Given the description of an element on the screen output the (x, y) to click on. 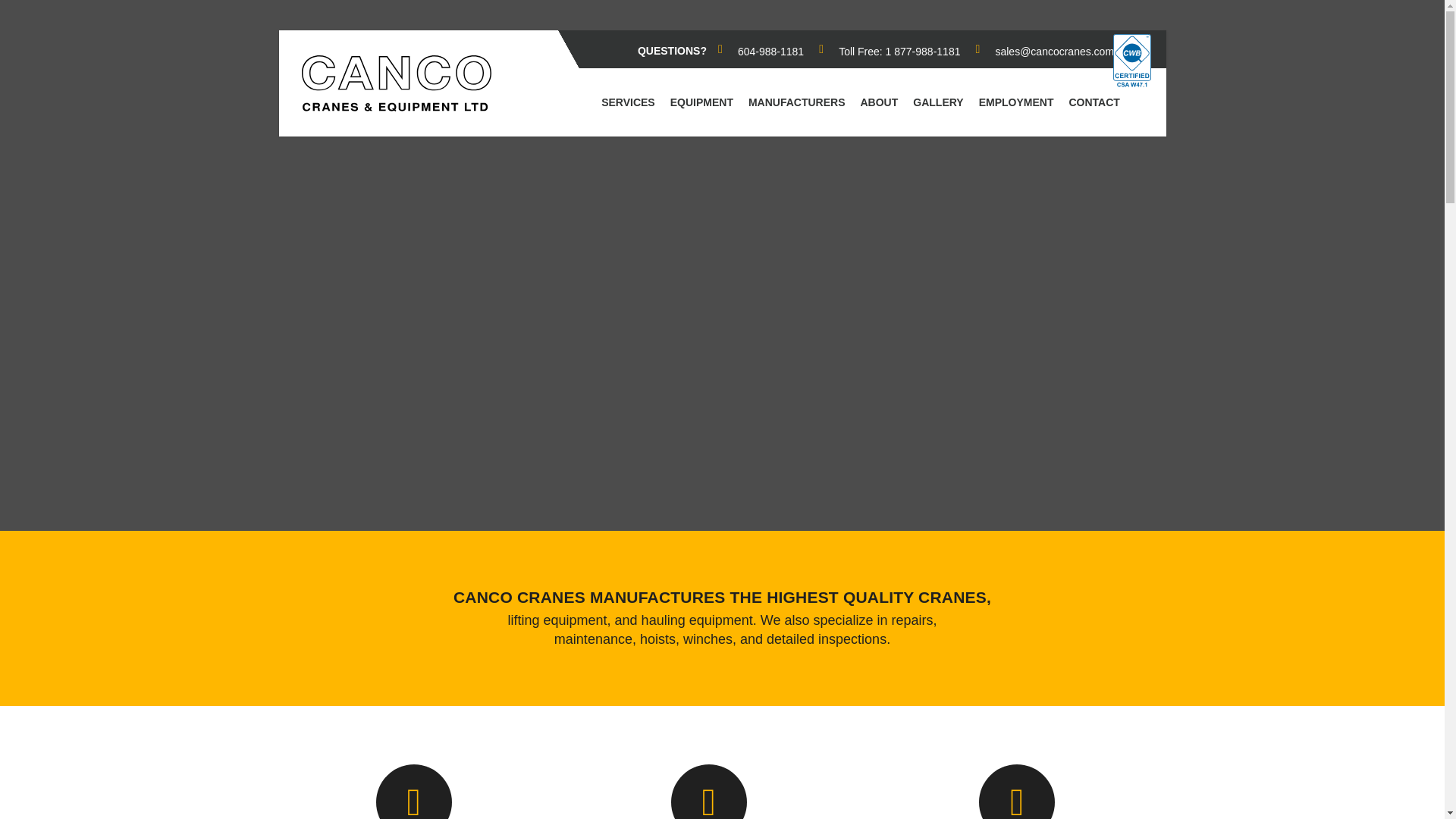
MANUFACTURERS (796, 101)
ABOUT (879, 101)
EQUIPMENT (701, 101)
Toll Free: 1 877-988-1181 (888, 52)
CONTACT (1093, 101)
SERVICES (628, 101)
EMPLOYMENT (1016, 101)
604-988-1181 (760, 52)
GALLERY (937, 101)
